Given the description of an element on the screen output the (x, y) to click on. 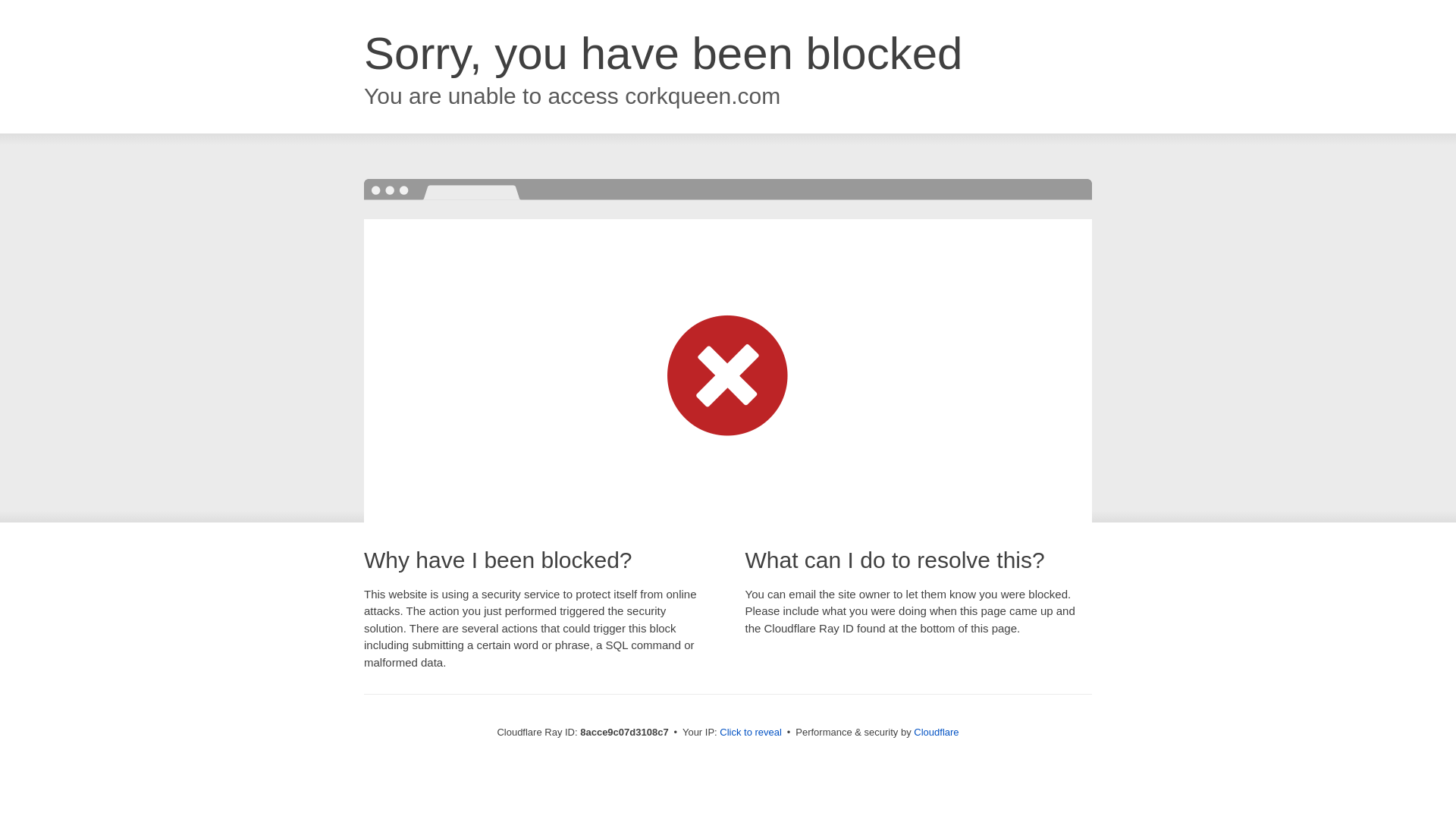
Click to reveal (750, 732)
Cloudflare (936, 731)
